Given the description of an element on the screen output the (x, y) to click on. 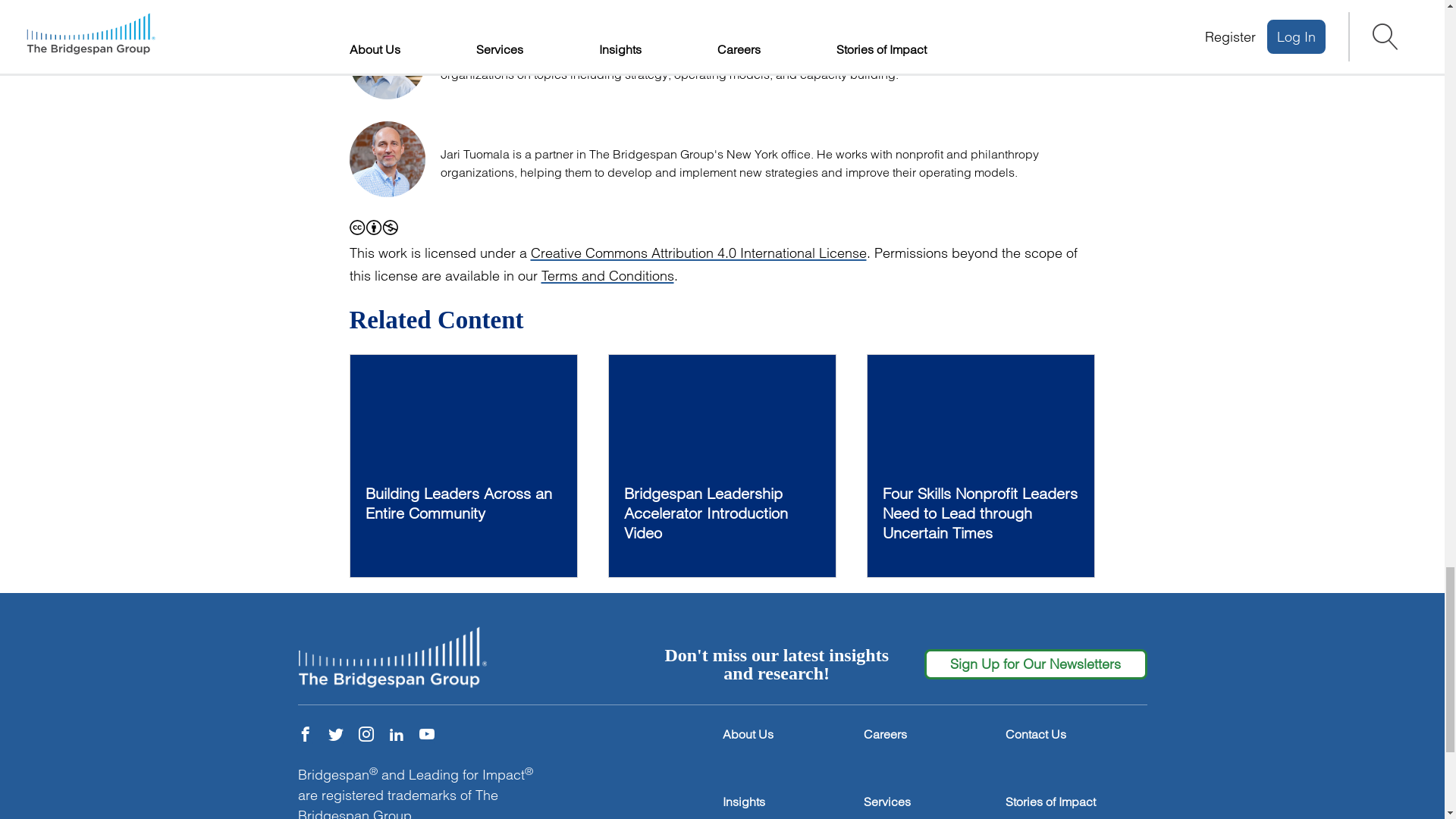
Building Leaders Across an Entire Community (462, 465)
Bridgespan Leadership Accelerator Introduction Video (721, 465)
